Given the description of an element on the screen output the (x, y) to click on. 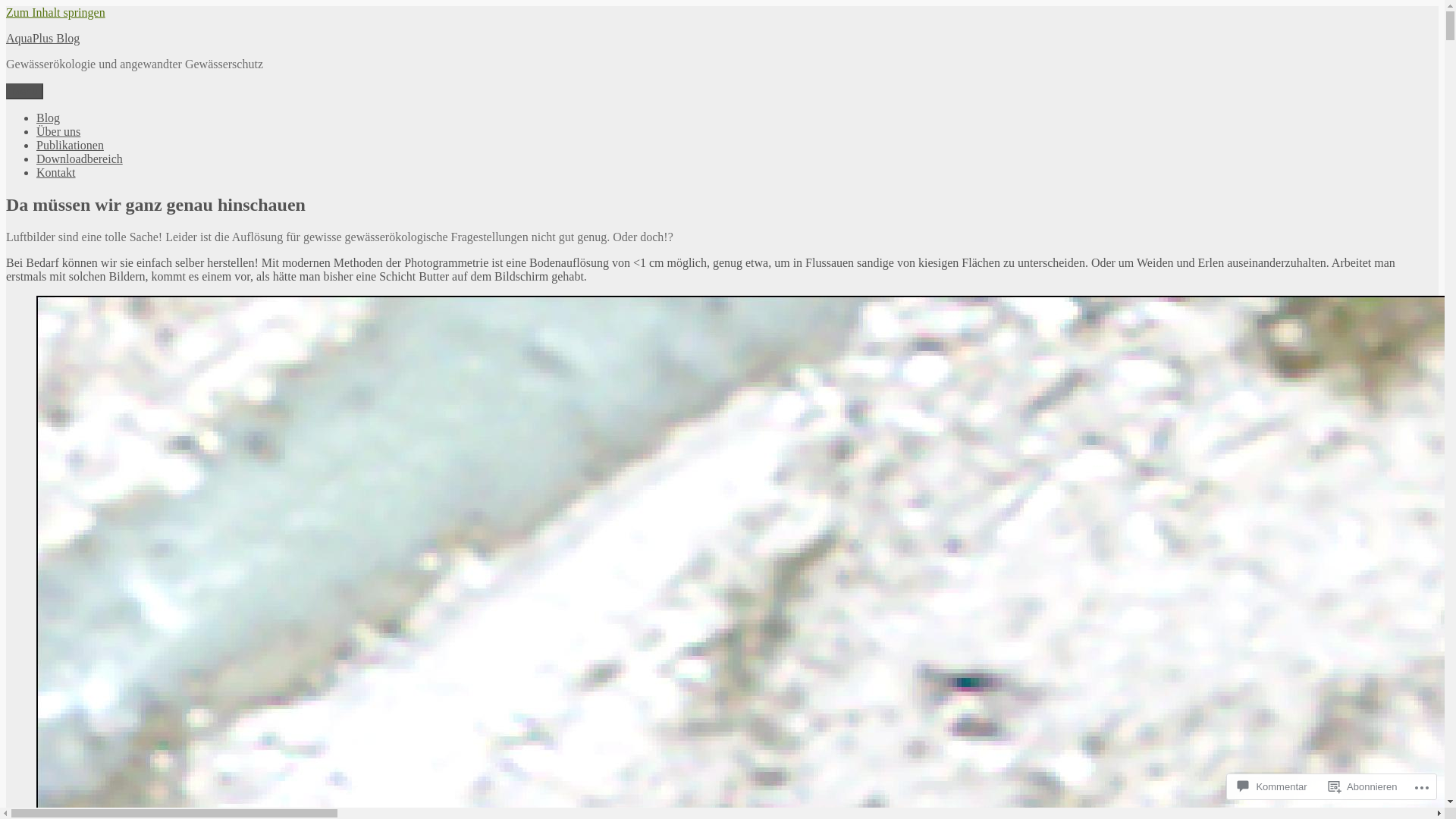
Zum Inhalt springen Element type: text (55, 12)
Kommentar Element type: text (1271, 786)
Downloadbereich Element type: text (79, 158)
Kontakt Element type: text (55, 172)
Publikationen Element type: text (69, 144)
Abonnieren Element type: text (1362, 786)
Blog Element type: text (47, 117)
AquaPlus Blog Element type: text (42, 37)
